Given the description of an element on the screen output the (x, y) to click on. 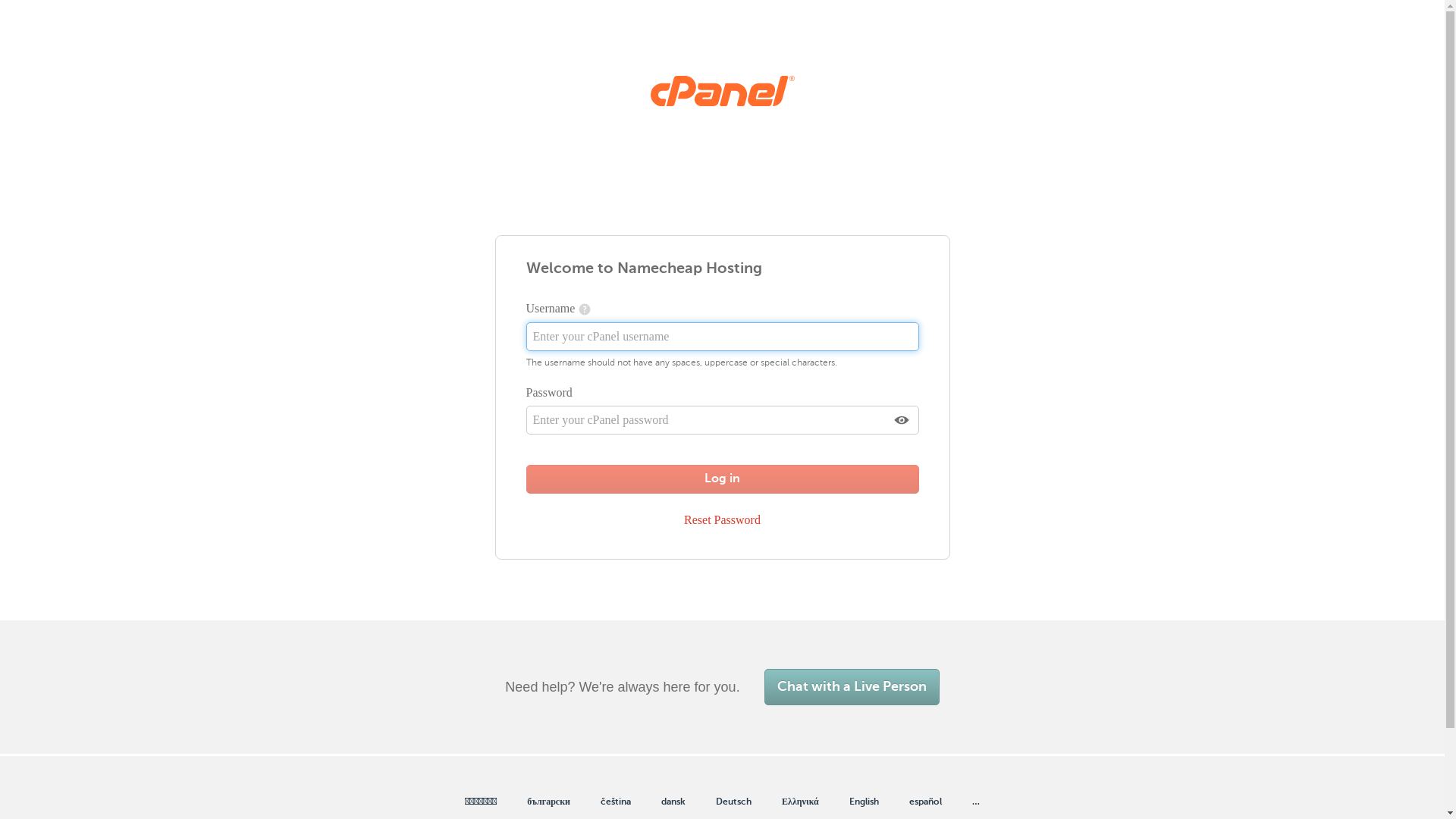
dansk Element type: text (673, 801)
Reset Password Element type: text (722, 519)
Chat with a Live Person Element type: text (851, 686)
English Element type: text (863, 801)
Log in Element type: text (722, 478)
Deutsch Element type: text (733, 801)
